Given the description of an element on the screen output the (x, y) to click on. 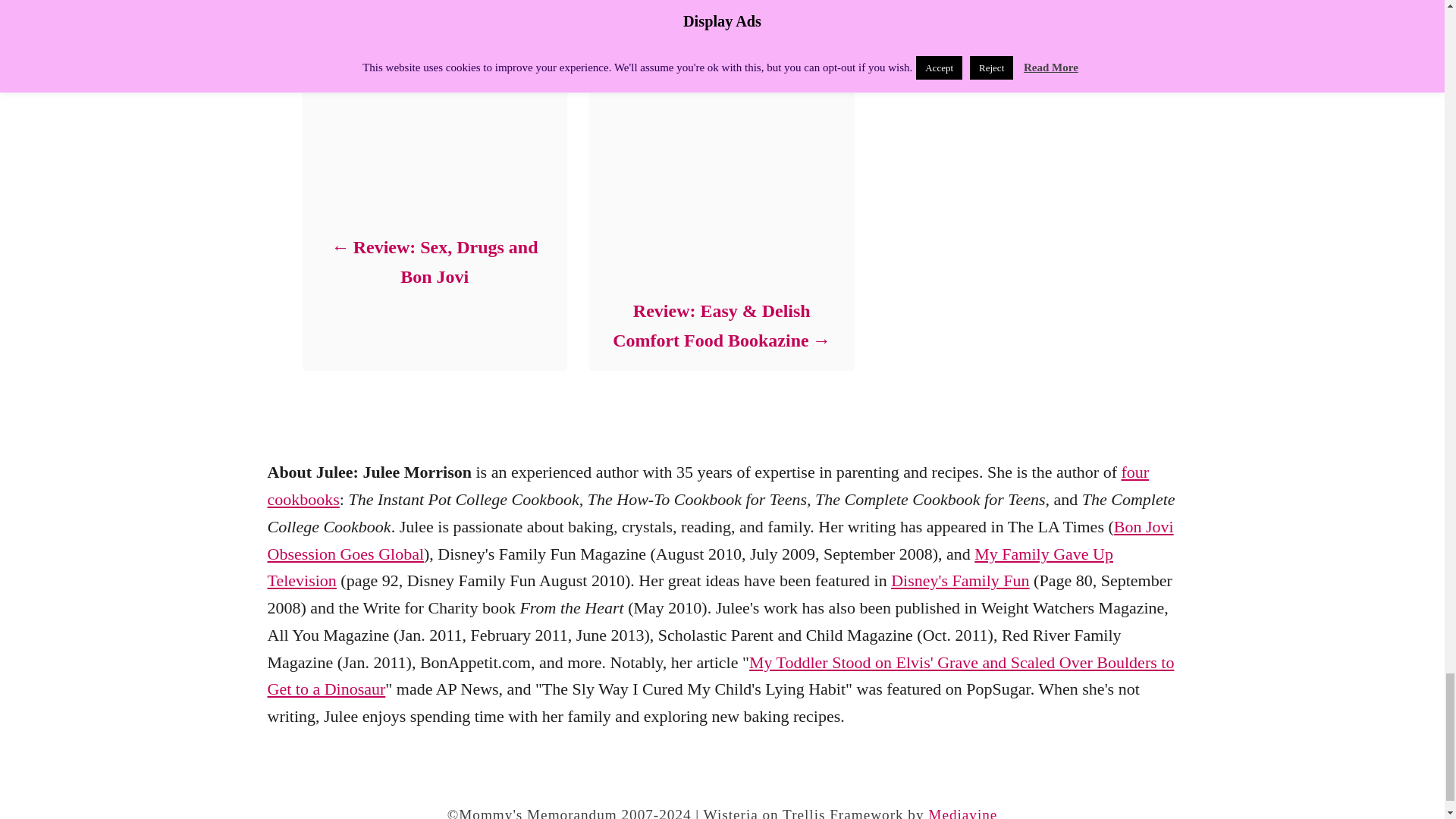
four cookbooks (707, 485)
My Family Gave Up Television (689, 567)
Bon Jovi Obsession Goes Global (719, 539)
Review: Sex, Drugs and Bon Jovi (434, 261)
Disney's Family Fun (960, 579)
